Given the description of an element on the screen output the (x, y) to click on. 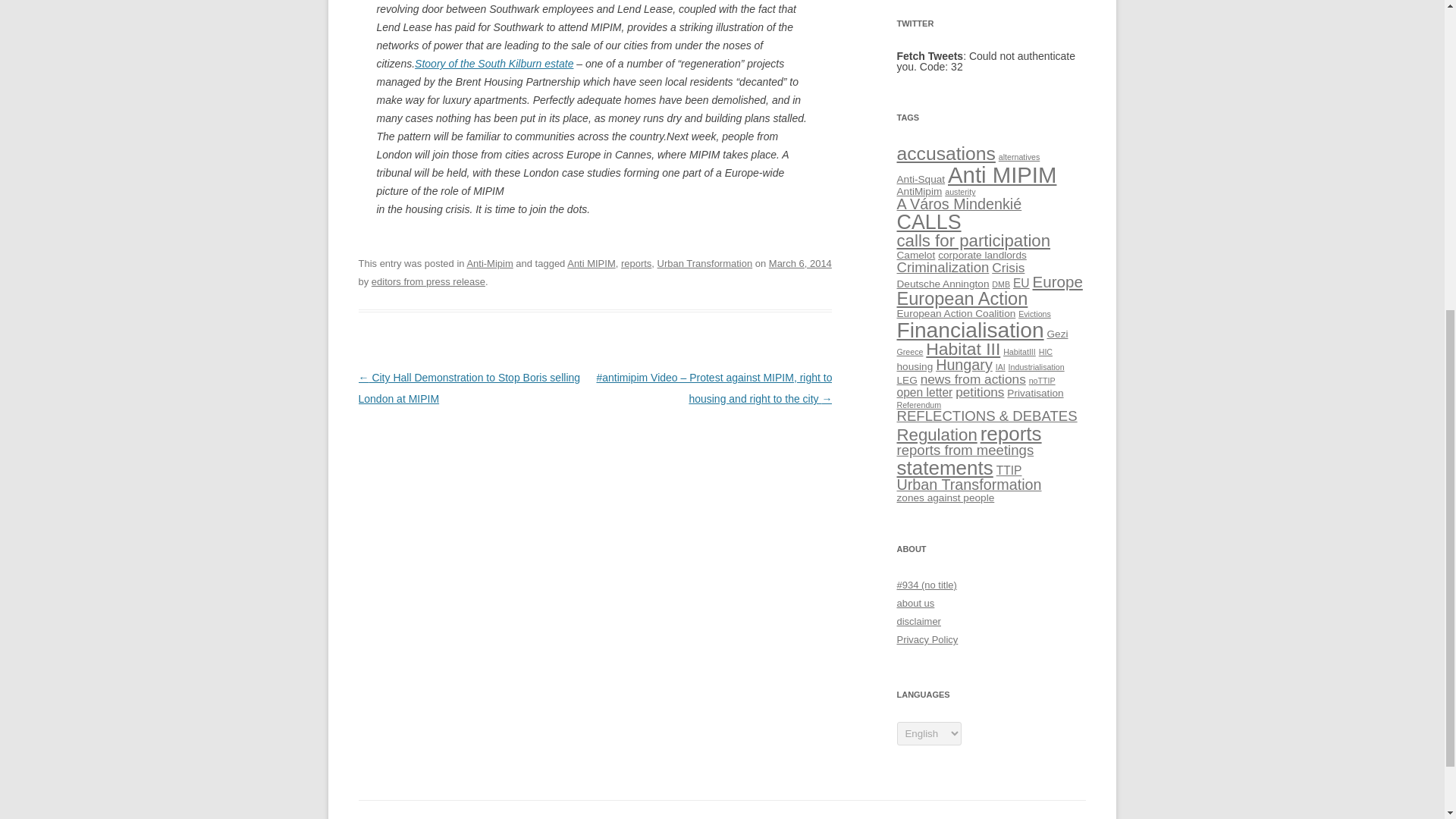
Criminalization (942, 267)
alternatives (1019, 156)
Anti MIPIM (591, 263)
Anti-Mipim (488, 263)
Camelot (915, 255)
CALLS (928, 221)
March 6, 2014 (799, 263)
reports (635, 263)
View all posts by editors from press release (427, 281)
editors from press release (427, 281)
calls for participation (972, 240)
Anti-Squat (920, 179)
Anti MIPIM (1002, 174)
corporate landlords (981, 255)
10:29 pm (799, 263)
